Given the description of an element on the screen output the (x, y) to click on. 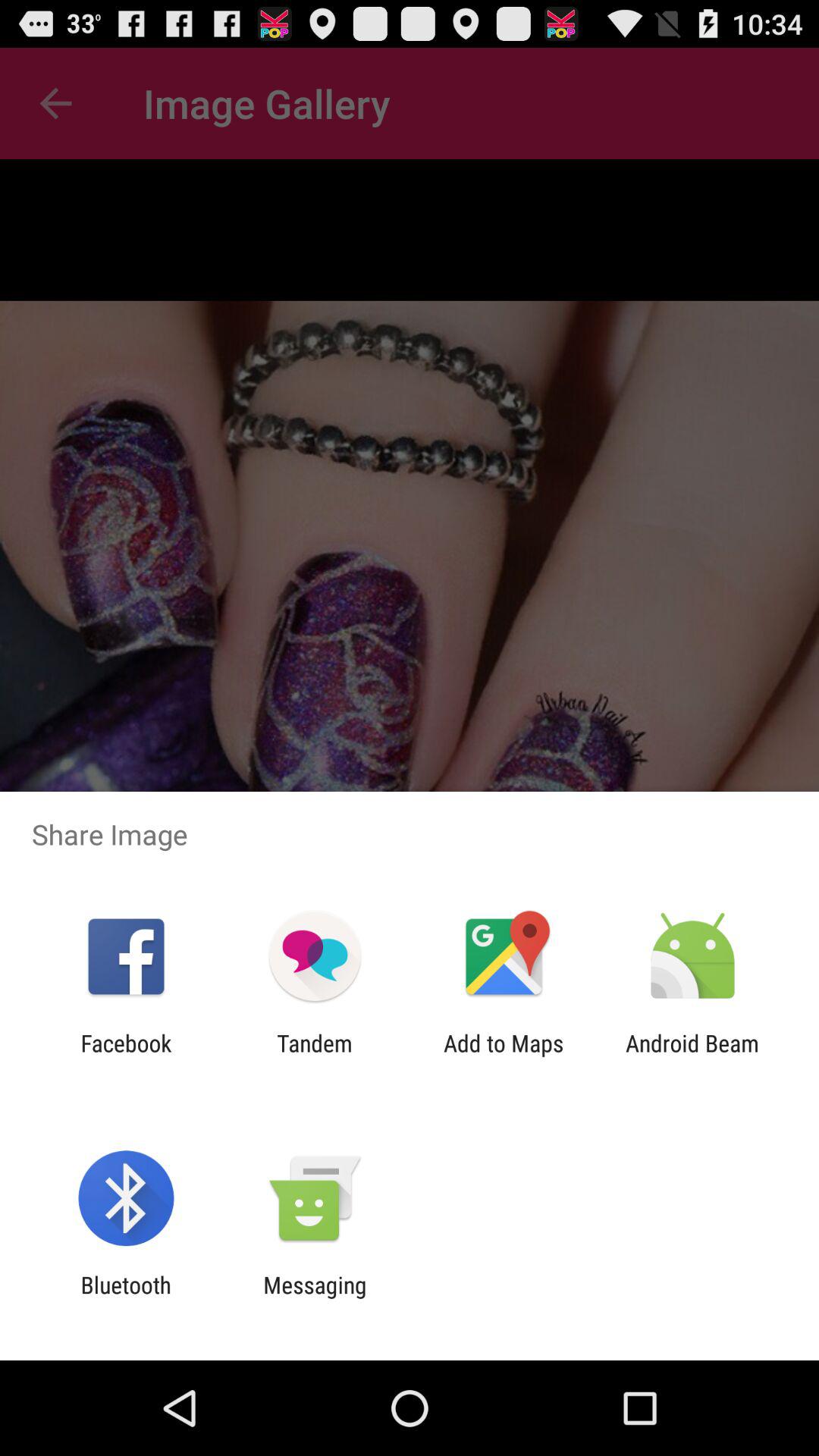
scroll until android beam item (692, 1056)
